Given the description of an element on the screen output the (x, y) to click on. 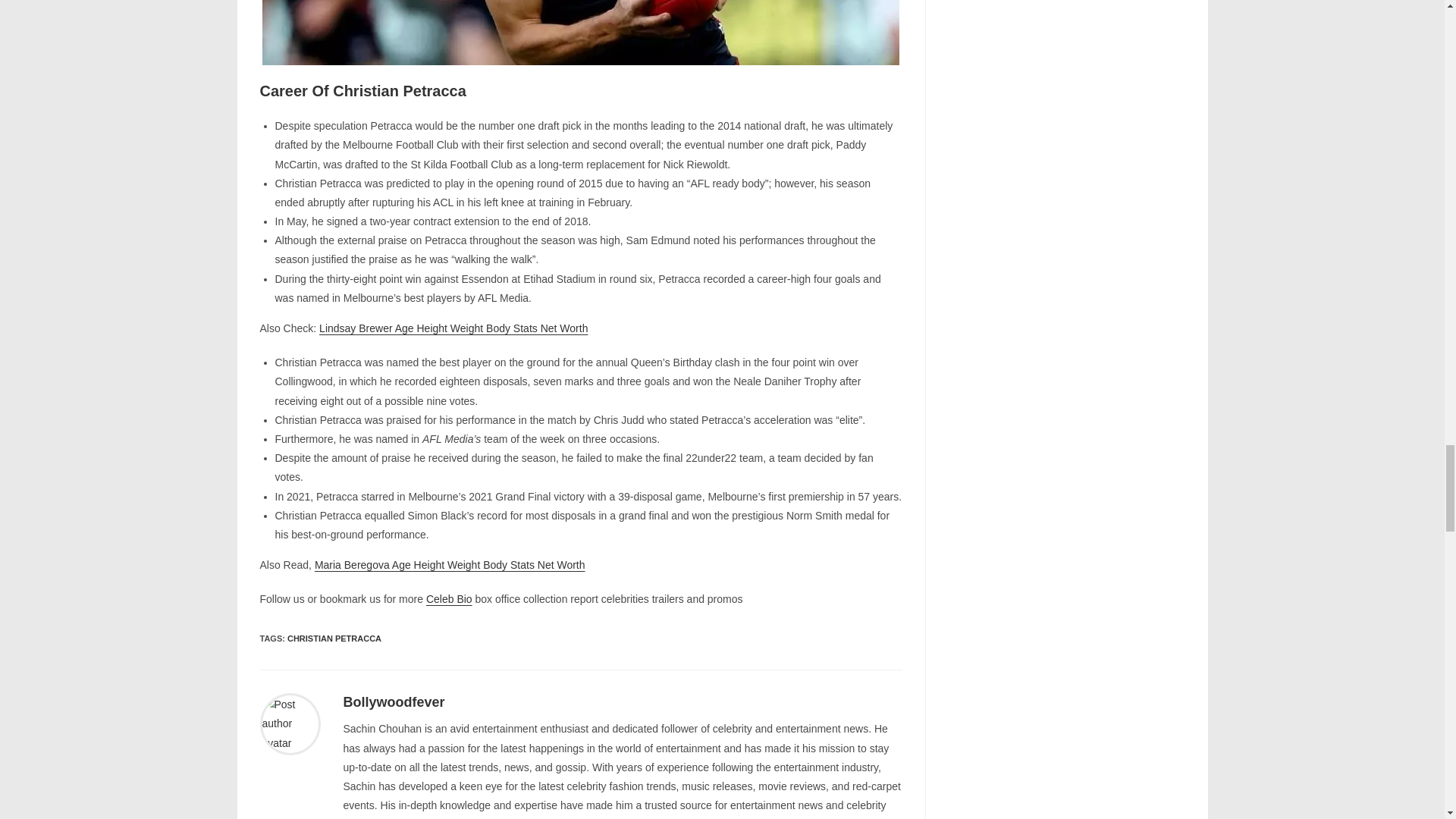
Visit author page (393, 702)
Visit author page (289, 723)
